Given the description of an element on the screen output the (x, y) to click on. 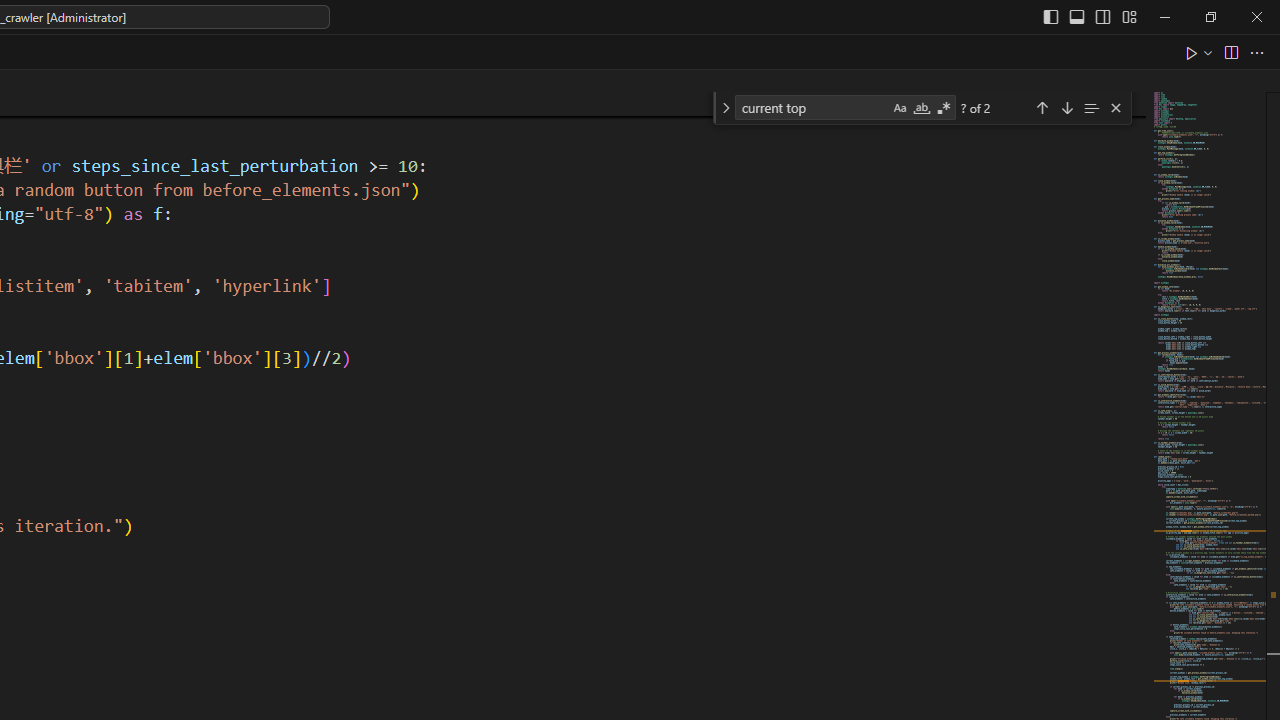
Toggle Secondary Side Bar (Ctrl+Alt+B) (1102, 16)
Toggle Primary Side Bar (Ctrl+B) (1050, 16)
Run or Debug... (1208, 52)
More Actions... (1256, 52)
Customize Layout... (1128, 16)
Toggle Replace (725, 107)
